Given the description of an element on the screen output the (x, y) to click on. 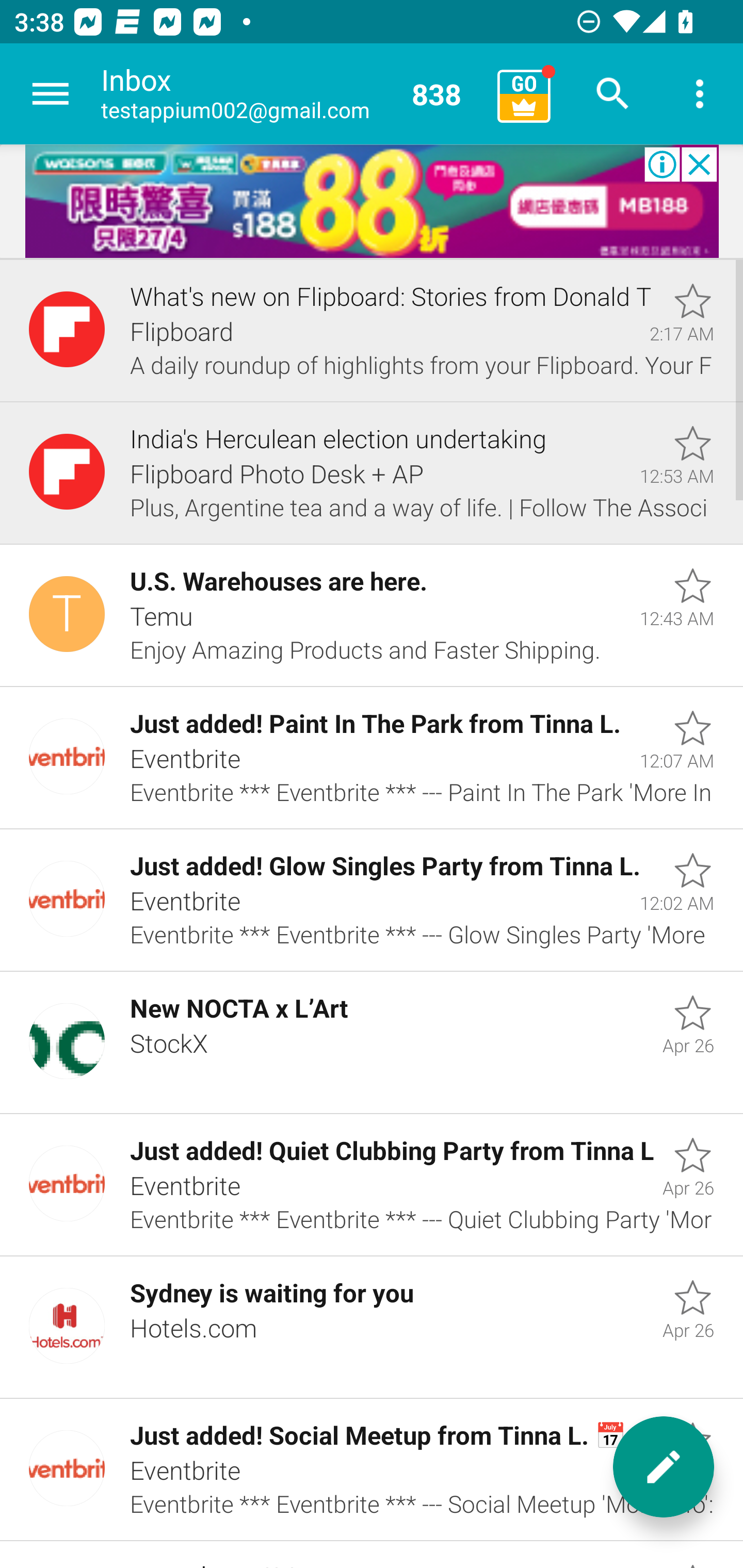
Navigate up (50, 93)
Inbox testappium002@gmail.com 838 (291, 93)
Search (612, 93)
More options (699, 93)
Unread, New NOCTA x L’Art, StockX, Apr 26 (371, 1043)
New message (663, 1466)
